Given the description of an element on the screen output the (x, y) to click on. 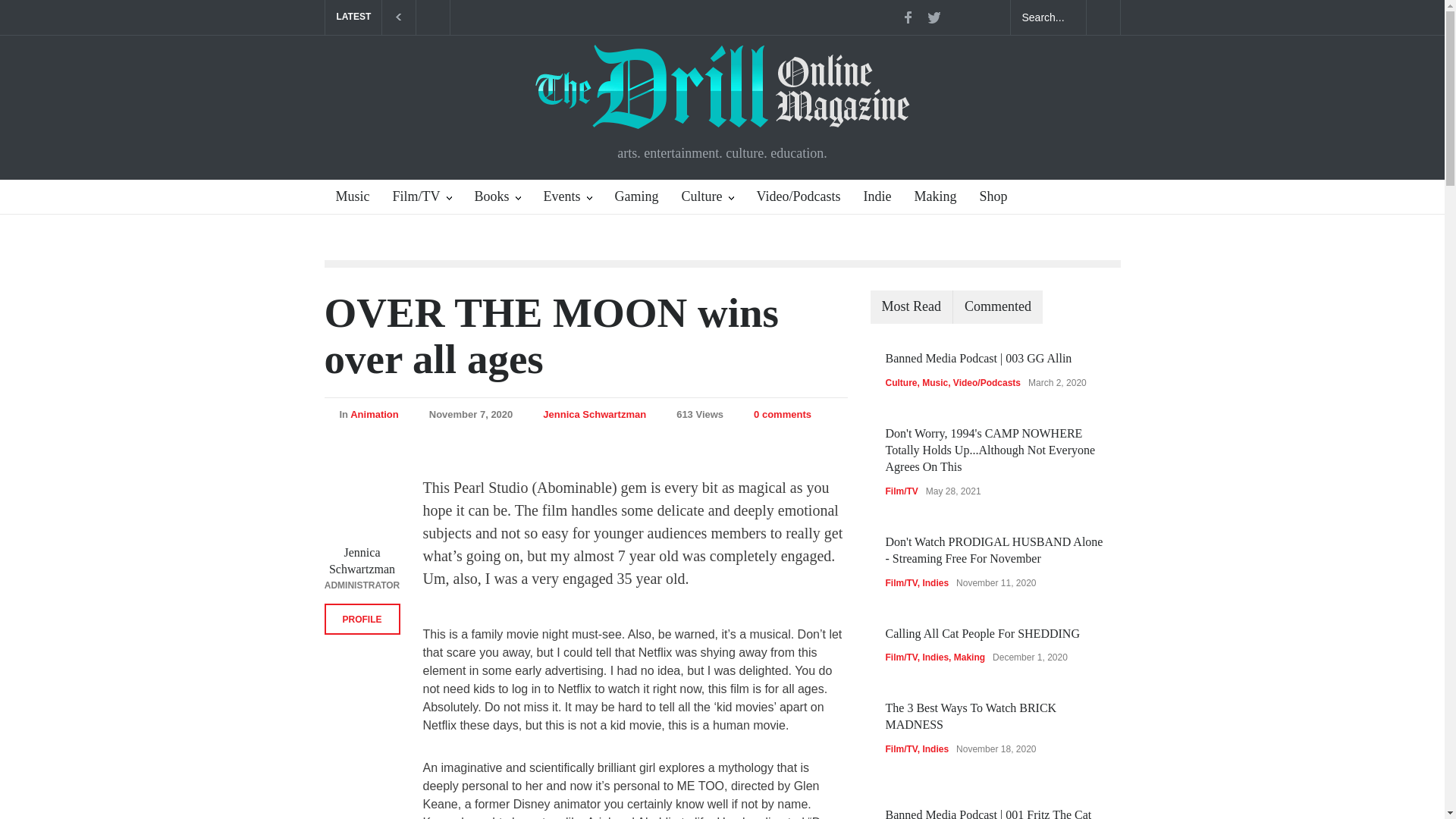
Search... (1048, 17)
Animation (374, 414)
Culture (707, 197)
Jennica Schwartzman (594, 414)
Jennica Schwartzman (361, 560)
Making (929, 197)
Jennica Schwartzman (594, 414)
Indie (871, 197)
OVER THE MOON wins over all ages (551, 335)
Events (568, 197)
Books (497, 197)
0 comments (782, 414)
